Given the description of an element on the screen output the (x, y) to click on. 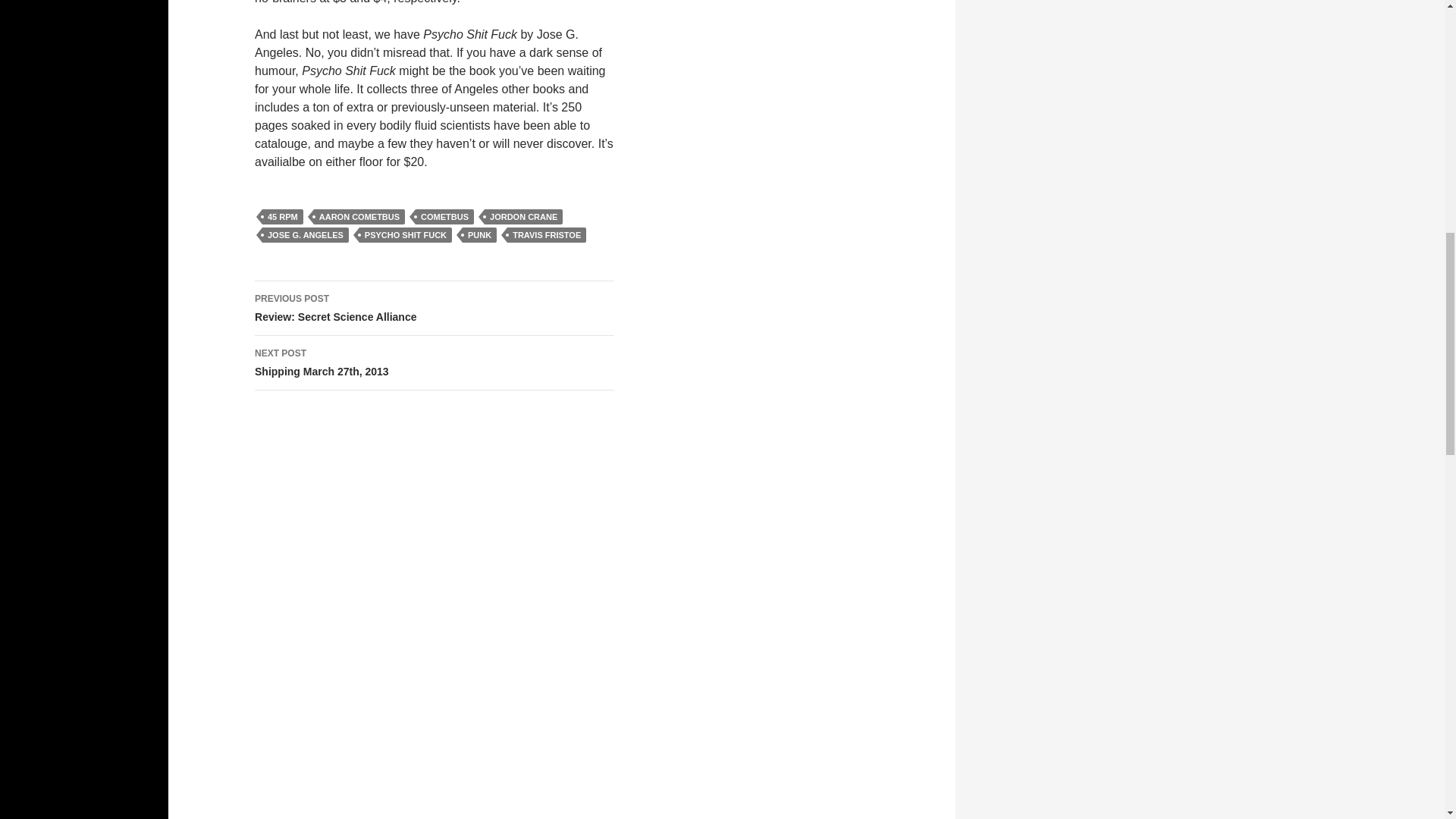
JOSE G. ANGELES (305, 234)
TRAVIS FRISTOE (546, 234)
45 RPM (282, 216)
PUNK (479, 234)
COMETBUS (444, 216)
PSYCHO SHIT FUCK (434, 308)
JORDON CRANE (405, 234)
AARON COMETBUS (523, 216)
